Given the description of an element on the screen output the (x, y) to click on. 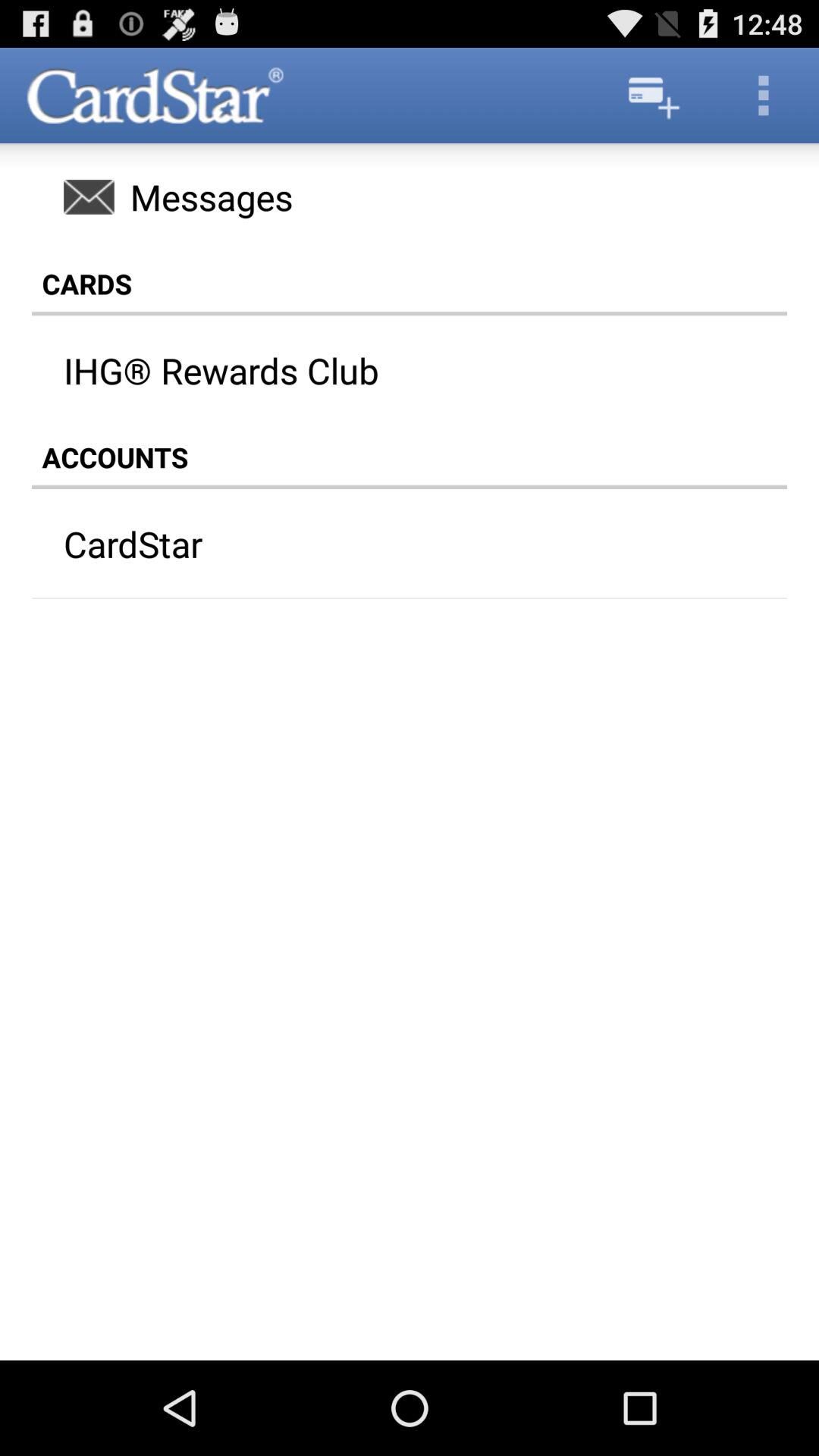
press the app above messages (763, 95)
